Given the description of an element on the screen output the (x, y) to click on. 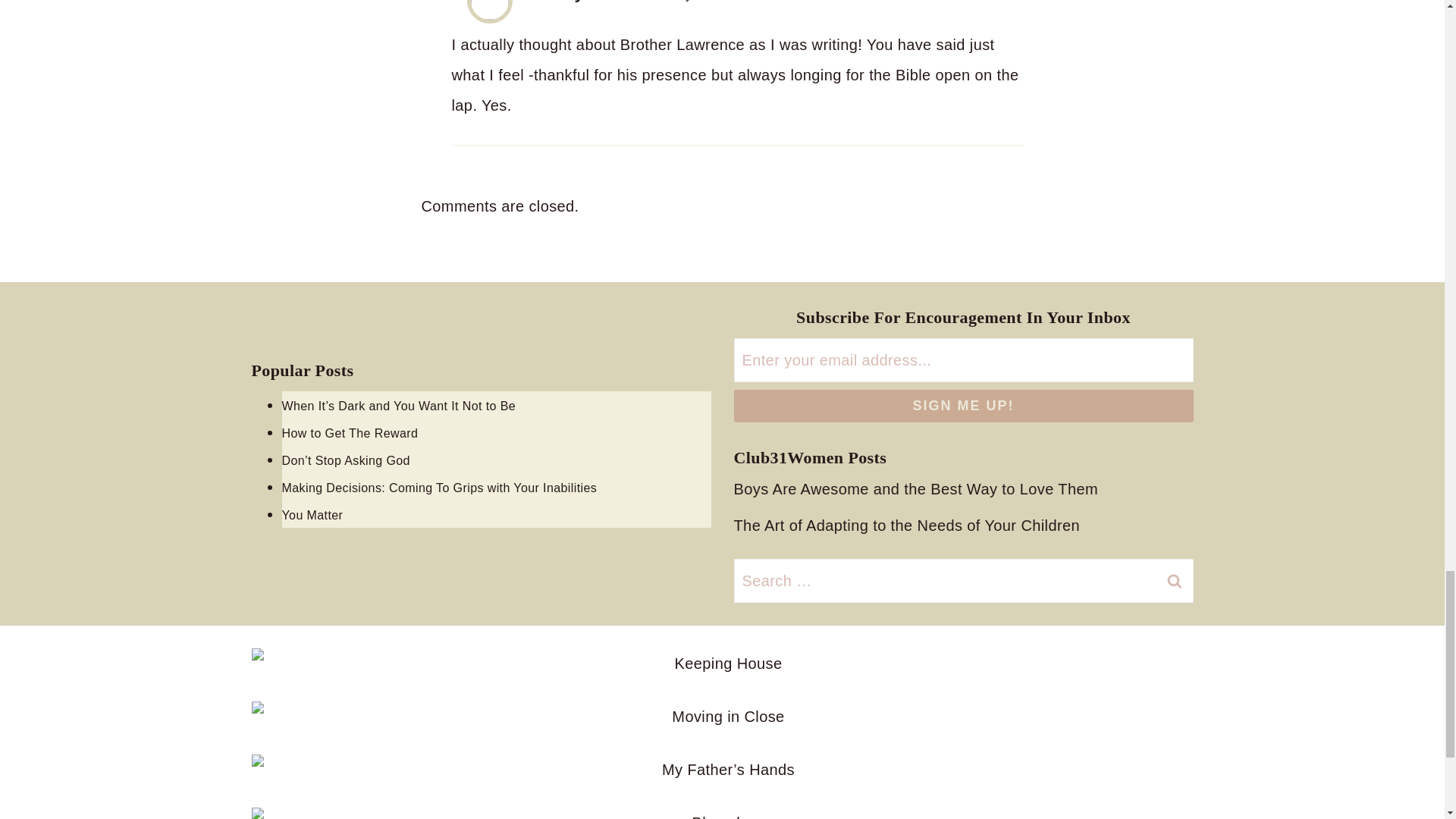
Sign Me Up! (963, 405)
Sign Me Up! (963, 405)
You Matter (496, 513)
Boys Are Awesome and the Best Way to Love Them (919, 488)
How to Get The Reward (496, 431)
Club31Women Posts (809, 456)
The Art of Adapting to the Needs of Your Children (910, 524)
Christy Fitzwater (593, 1)
Making Decisions: Coming To Grips with Your Inabilities (496, 486)
